Given the description of an element on the screen output the (x, y) to click on. 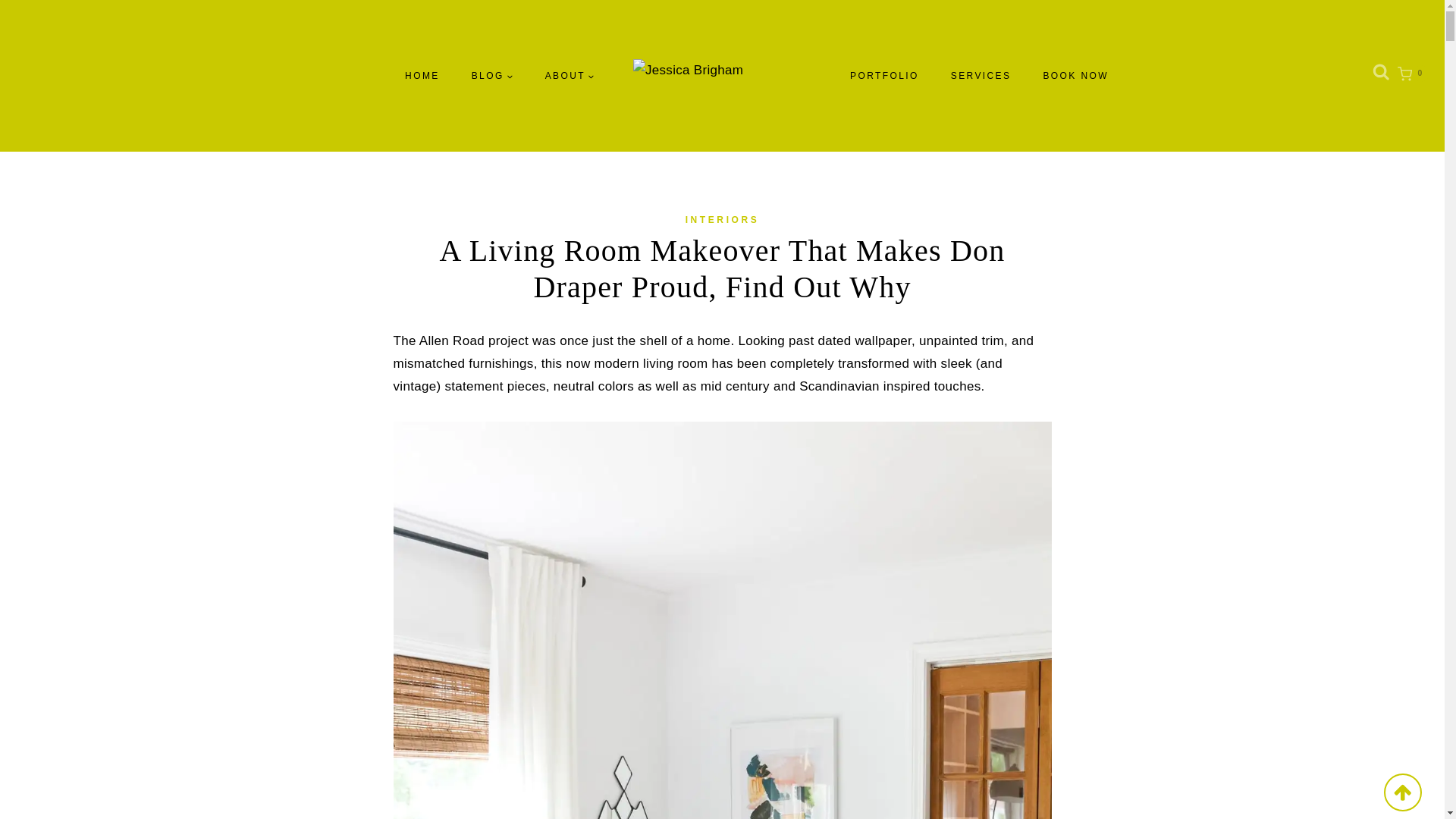
BLOG (492, 75)
PORTFOLIO (884, 75)
SERVICES (980, 75)
BOOK NOW (1075, 75)
HOME (421, 75)
ABOUT (569, 75)
INTERIORS (722, 219)
0 (1413, 75)
